Given the description of an element on the screen output the (x, y) to click on. 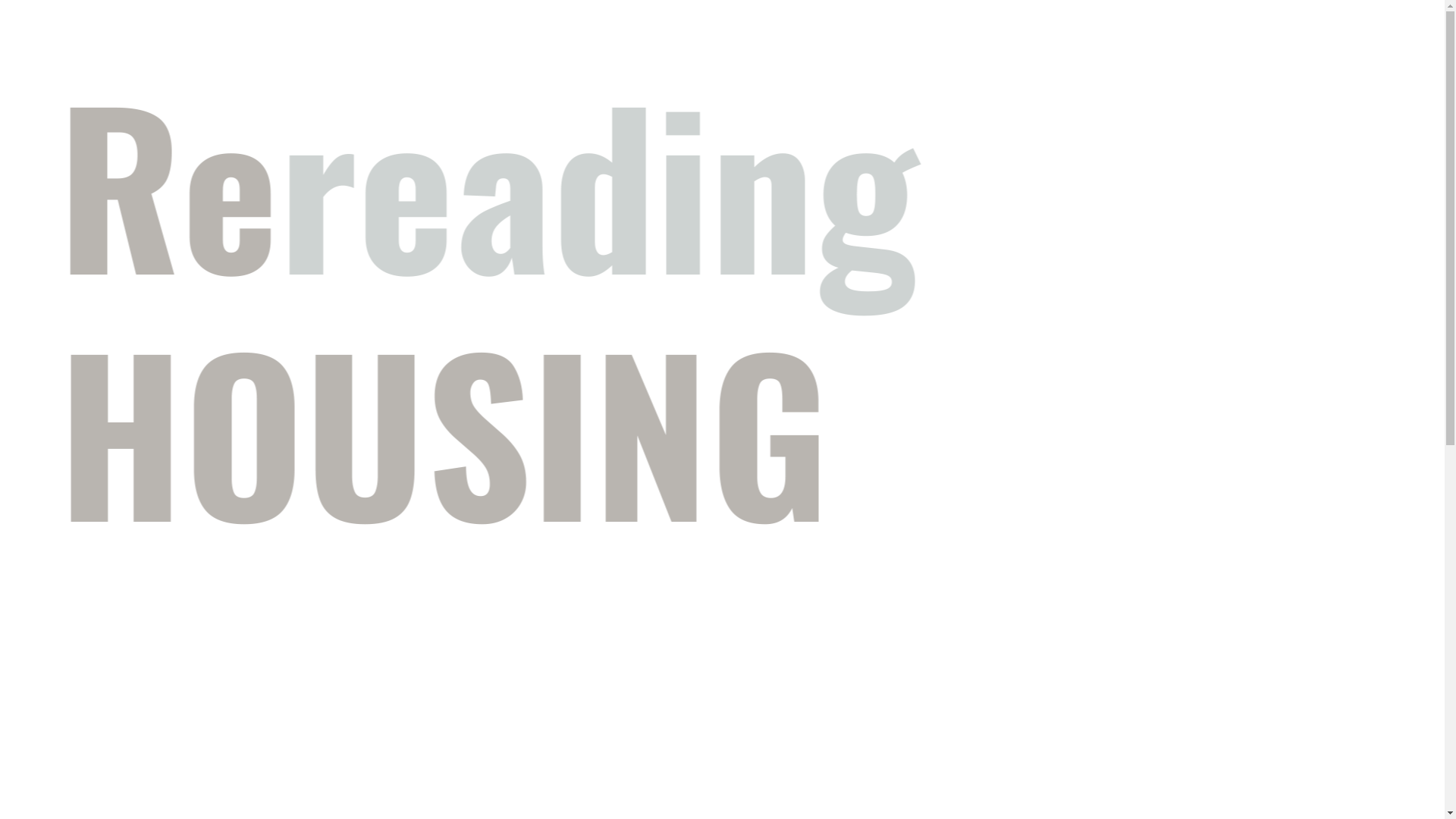
Contact Us Element type: text (1122, 43)
Events Element type: text (1012, 43)
Projects Element type: text (880, 43)
People Element type: text (927, 43)
Home Element type: text (783, 43)
About us Element type: text (829, 43)
Internship Element type: text (1062, 43)
Media Element type: text (970, 43)
